Given the description of an element on the screen output the (x, y) to click on. 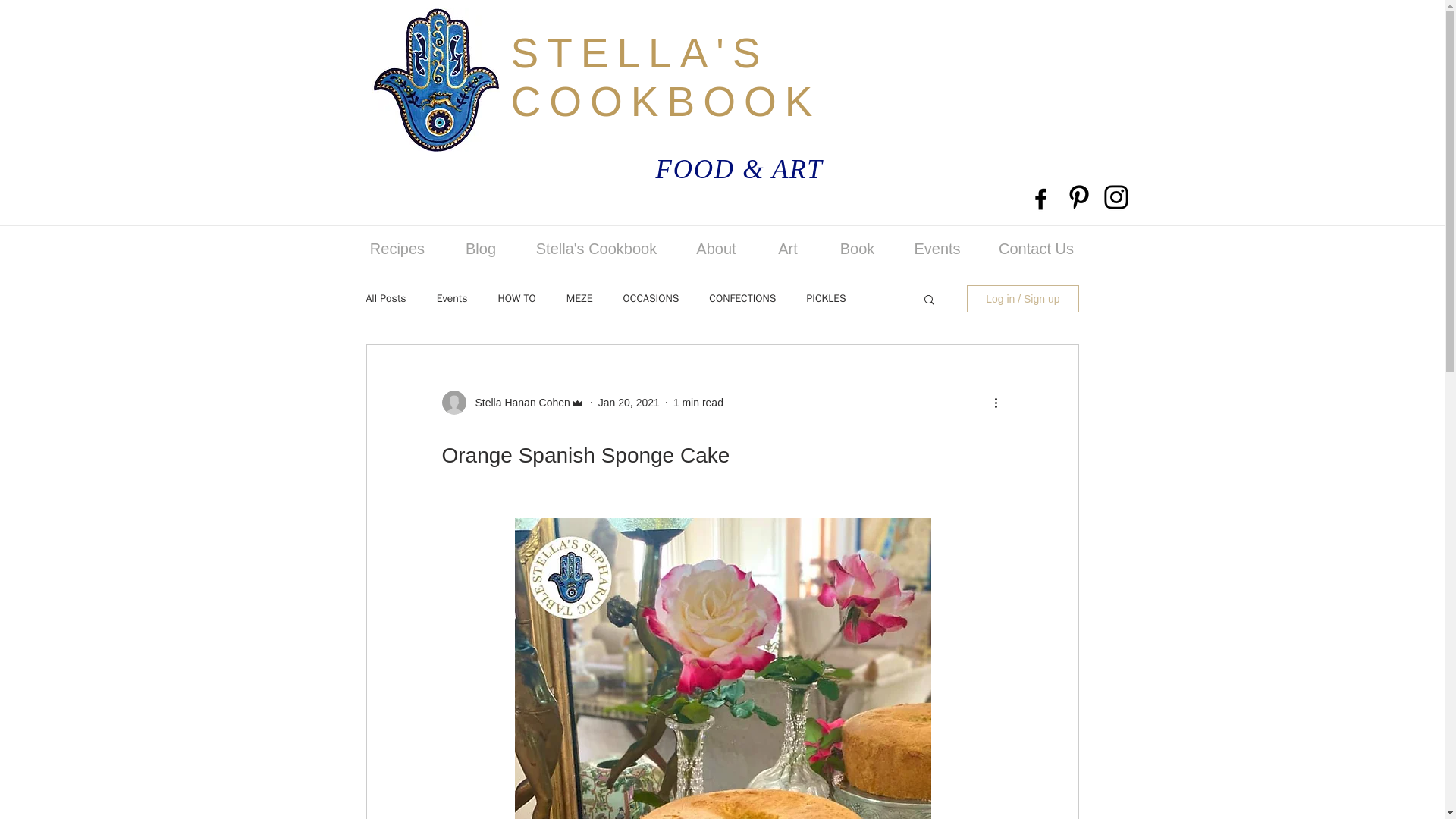
HOW TO (516, 298)
All Posts (385, 298)
Jan 20, 2021 (628, 401)
CONFECTIONS (742, 298)
PICKLES (825, 298)
Events (451, 298)
Blog (480, 248)
About (715, 248)
1 min read (697, 401)
Recipes (397, 248)
Events (936, 248)
Contact Us (1035, 248)
MEZE (579, 298)
Book (856, 248)
Stella Hanan Cohen (517, 401)
